Given the description of an element on the screen output the (x, y) to click on. 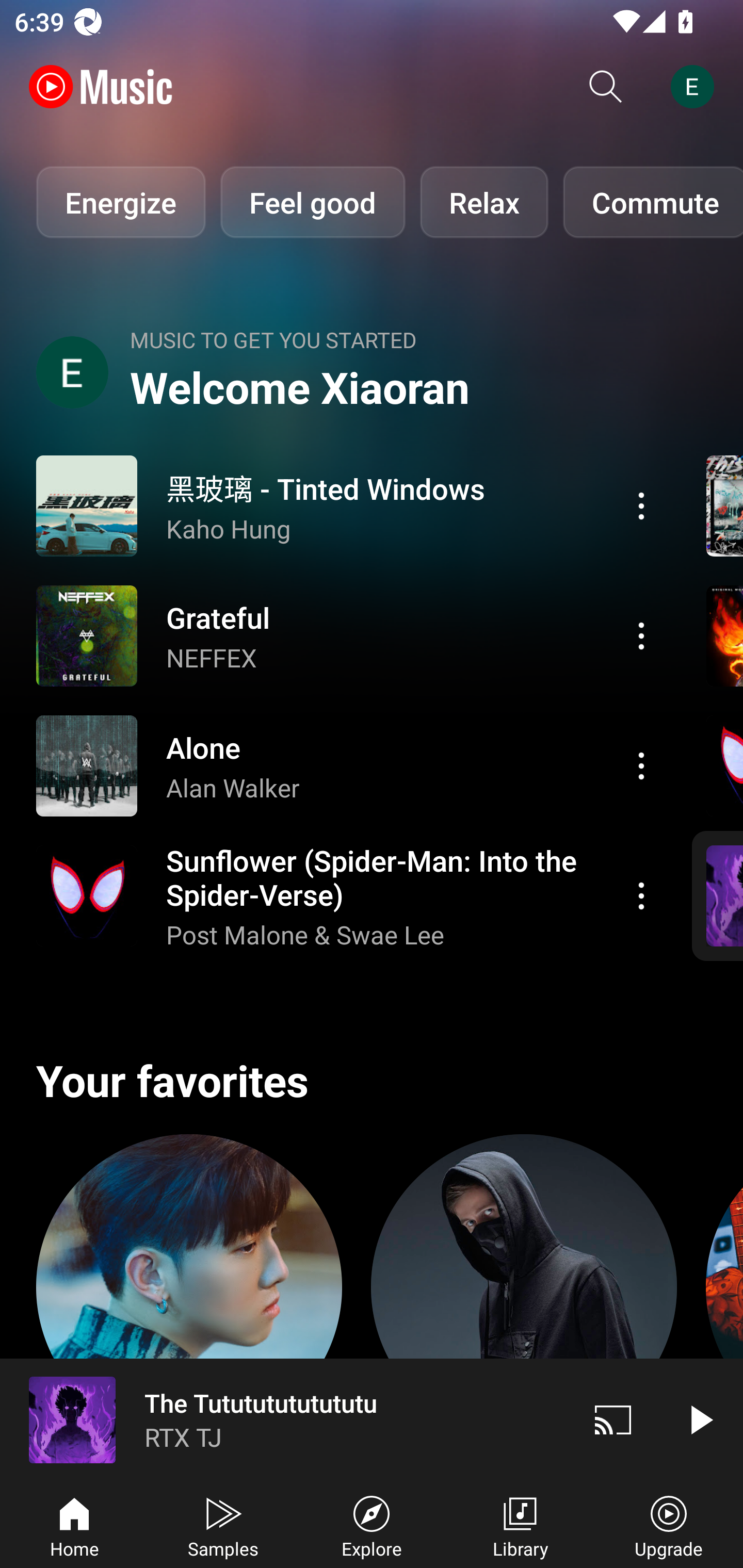
Search (605, 86)
Account (696, 86)
Action menu (349, 505)
Action menu (641, 505)
Action menu (349, 635)
Action menu (641, 635)
Action menu (349, 765)
Action menu (641, 765)
Action menu (349, 896)
Action menu (641, 896)
The Tutututututututu RTX TJ (284, 1419)
Cast. Disconnected (612, 1419)
Play video (699, 1419)
Home (74, 1524)
Samples (222, 1524)
Explore (371, 1524)
Library (519, 1524)
Upgrade (668, 1524)
